Given the description of an element on the screen output the (x, y) to click on. 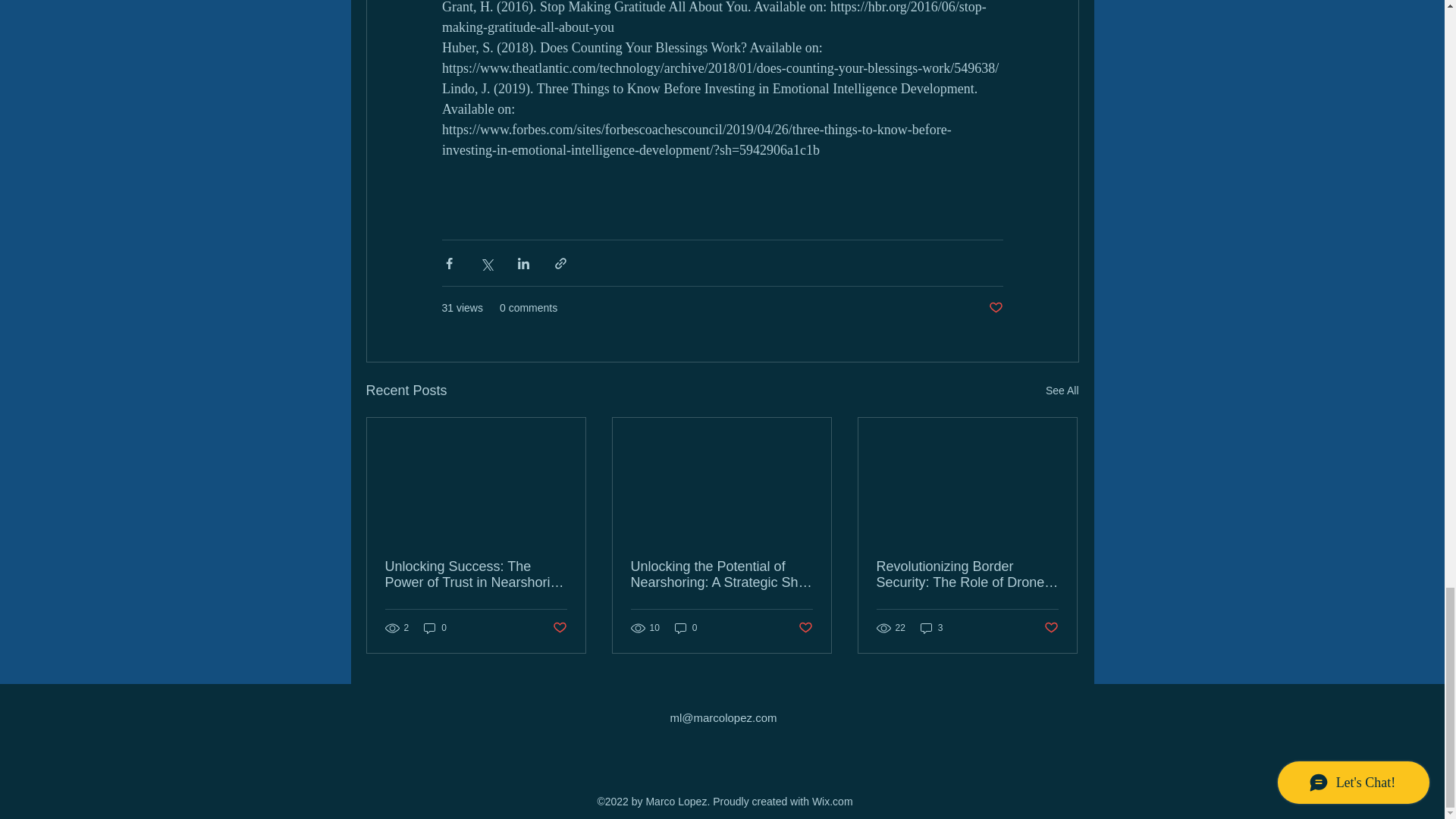
0 (685, 627)
3 (931, 627)
0 (435, 627)
See All (1061, 391)
Post not marked as liked (804, 627)
Post not marked as liked (558, 627)
Post not marked as liked (995, 308)
